Given the description of an element on the screen output the (x, y) to click on. 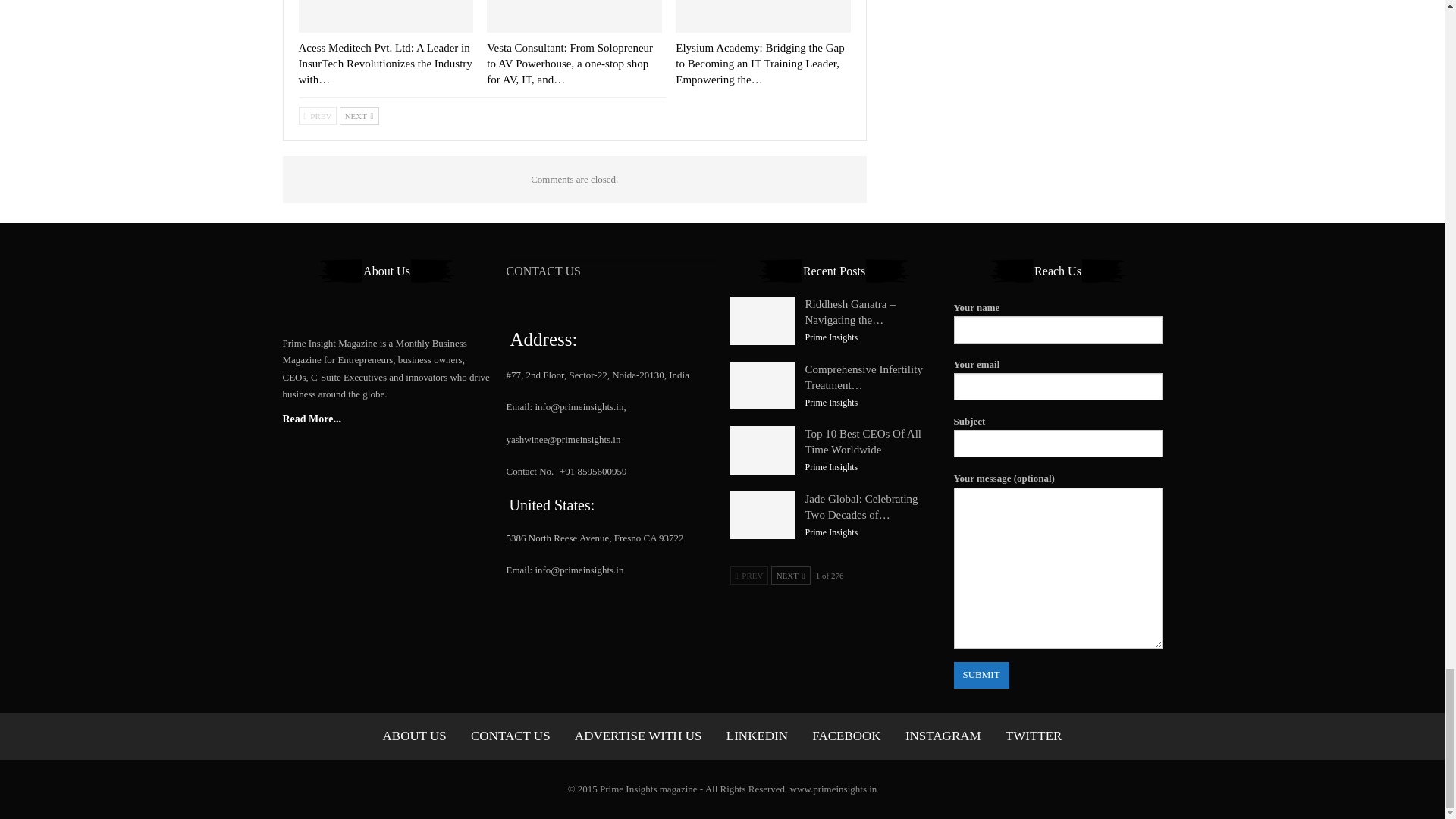
Submit (981, 674)
